Given the description of an element on the screen output the (x, y) to click on. 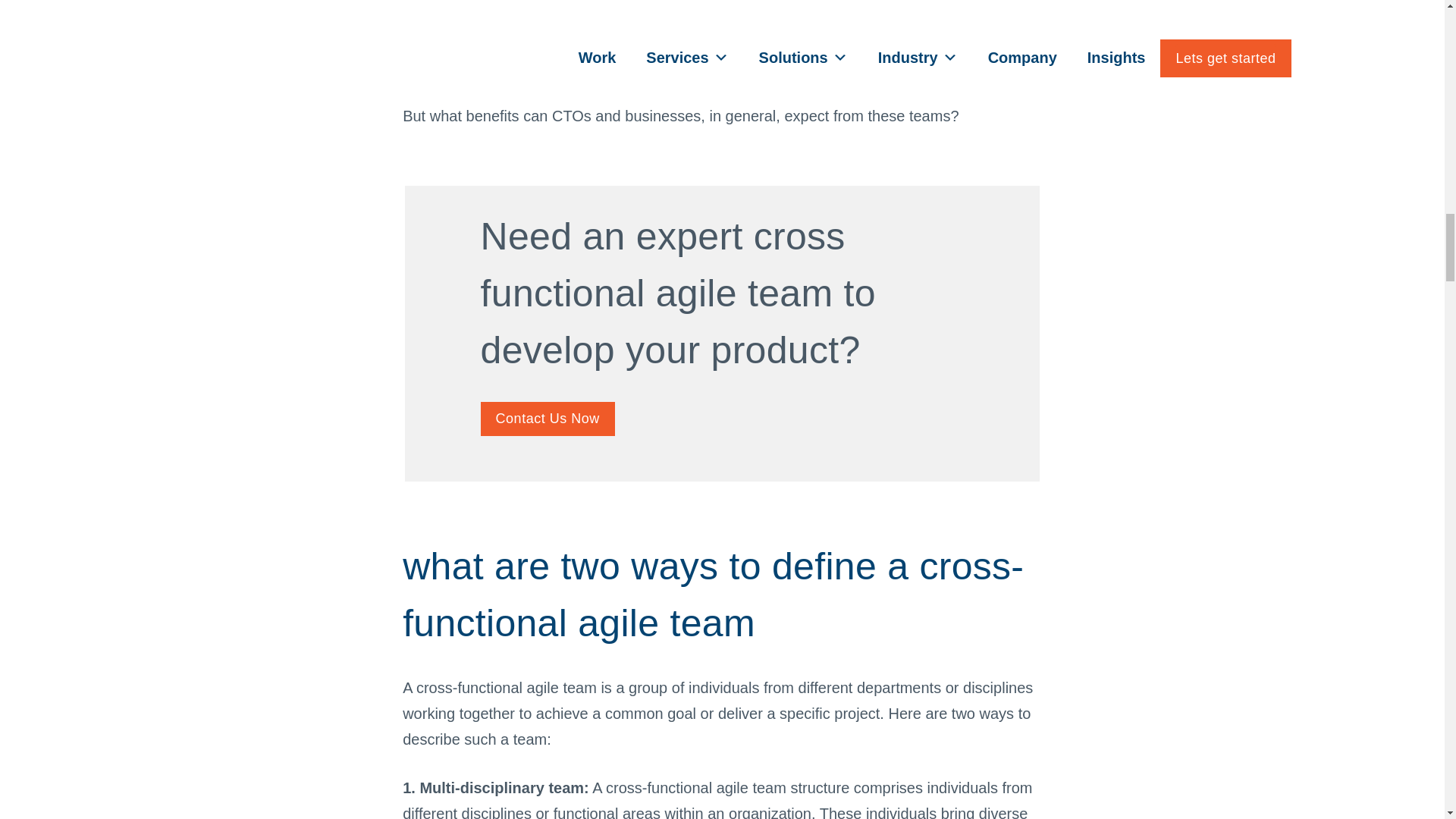
Contact Us Now (547, 418)
